Given the description of an element on the screen output the (x, y) to click on. 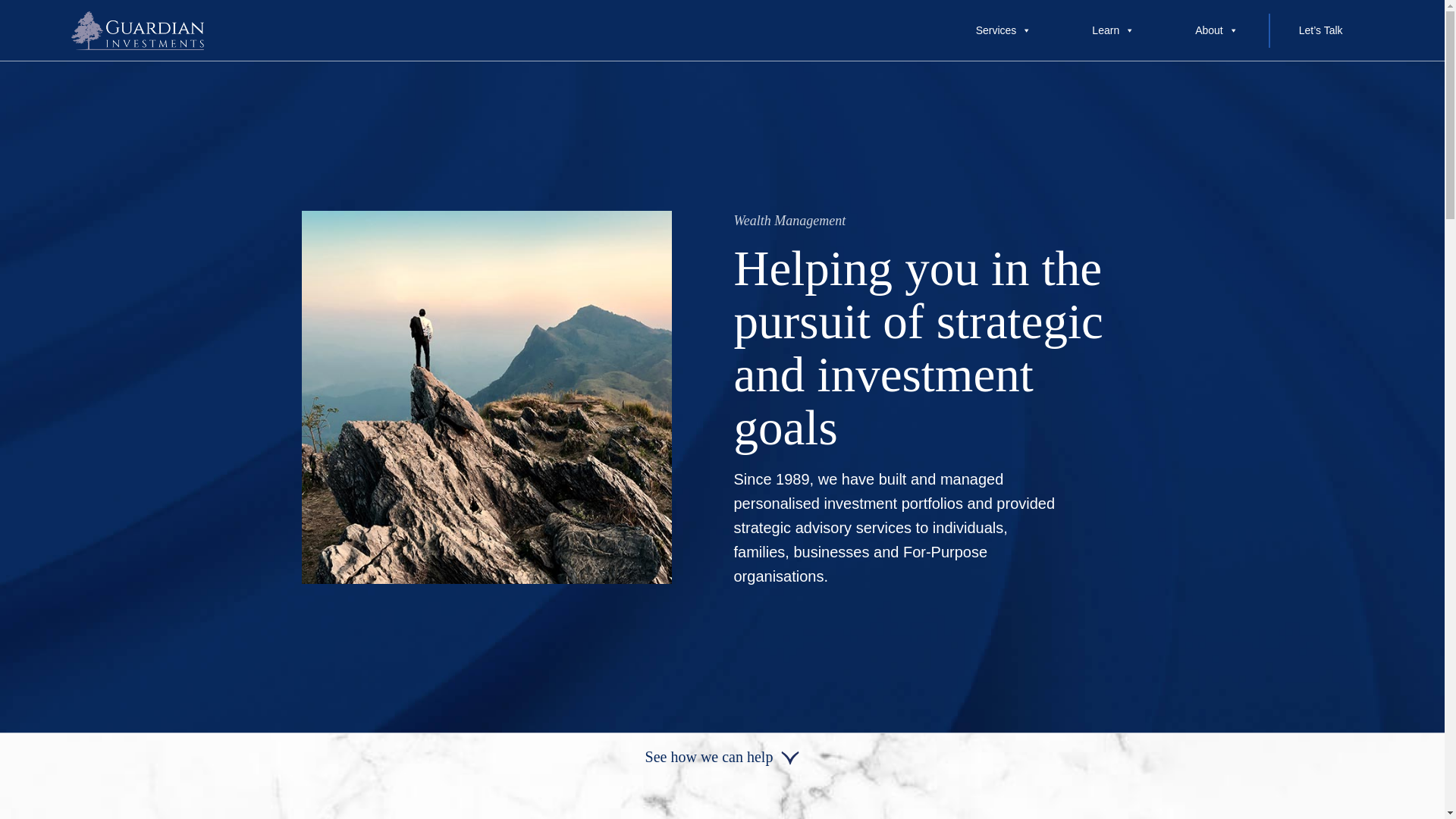
Learn Element type: text (1112, 30)
See how we can help Element type: text (722, 756)
Services Element type: text (1003, 30)
About Element type: text (1216, 30)
